Given the description of an element on the screen output the (x, y) to click on. 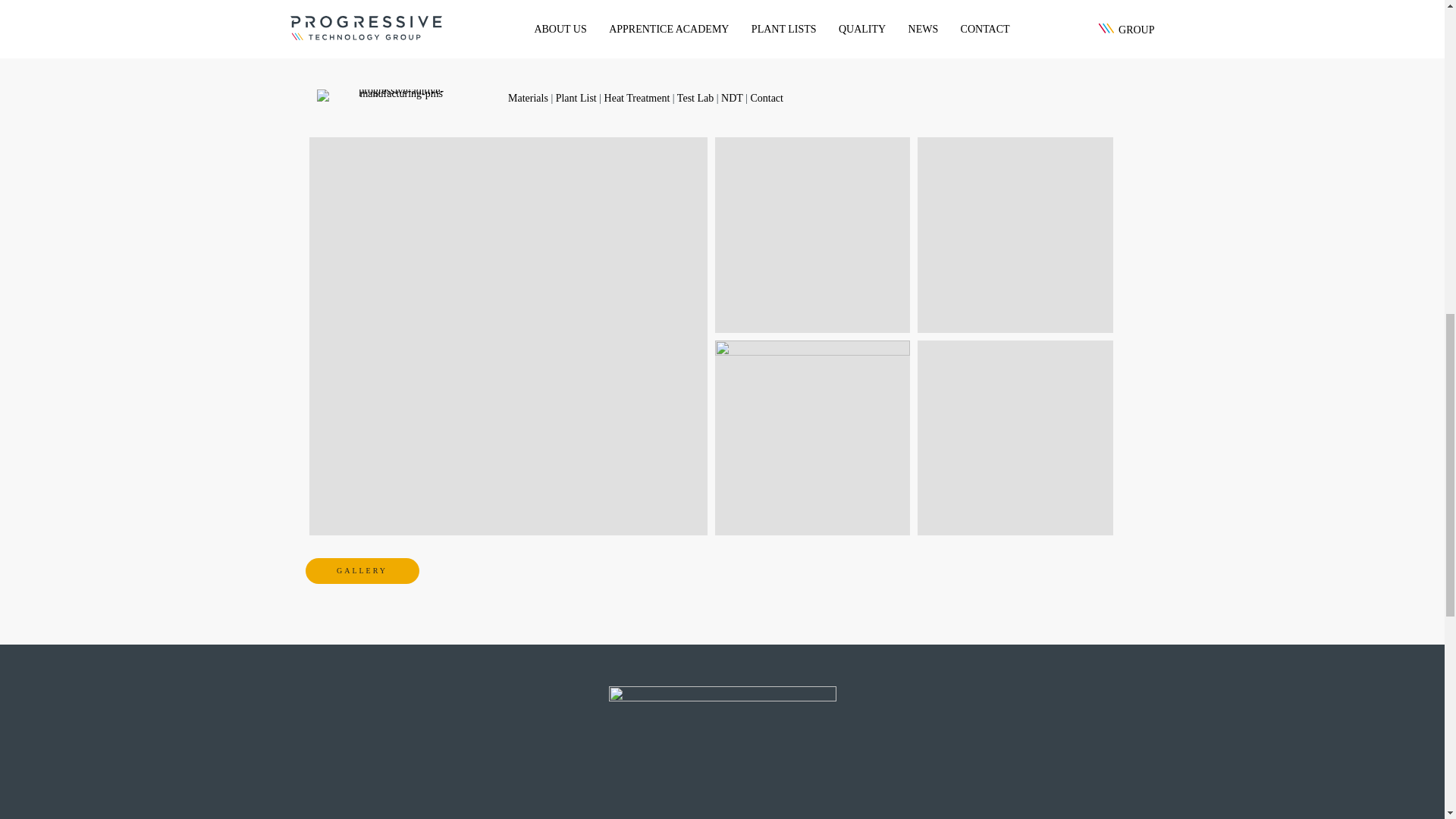
additive-manufacturing-plant (1015, 234)
progressive-aditive-manufacturing-pms (395, 95)
NDT Room (1015, 438)
additive-manufacturing-staff (812, 438)
GALLERY (361, 570)
NDT Equipment (812, 234)
